Given the description of an element on the screen output the (x, y) to click on. 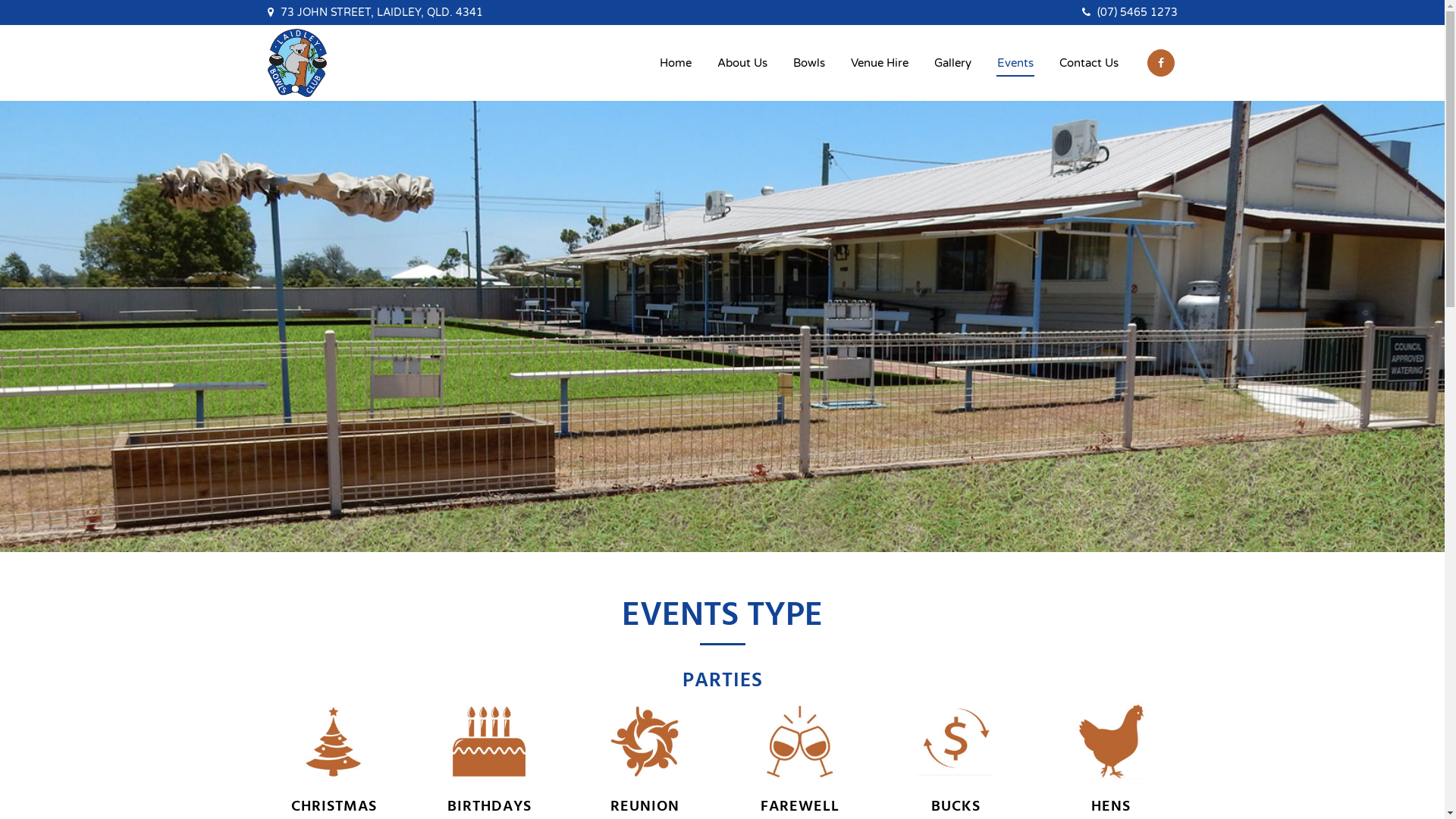
Events Element type: text (1015, 62)
Venue Hire Element type: text (879, 62)
Home Element type: text (675, 62)
Bowls Element type: text (808, 62)
About Us Element type: text (742, 62)
Gallery Element type: text (952, 62)
Contact Us Element type: text (1088, 62)
